Given the description of an element on the screen output the (x, y) to click on. 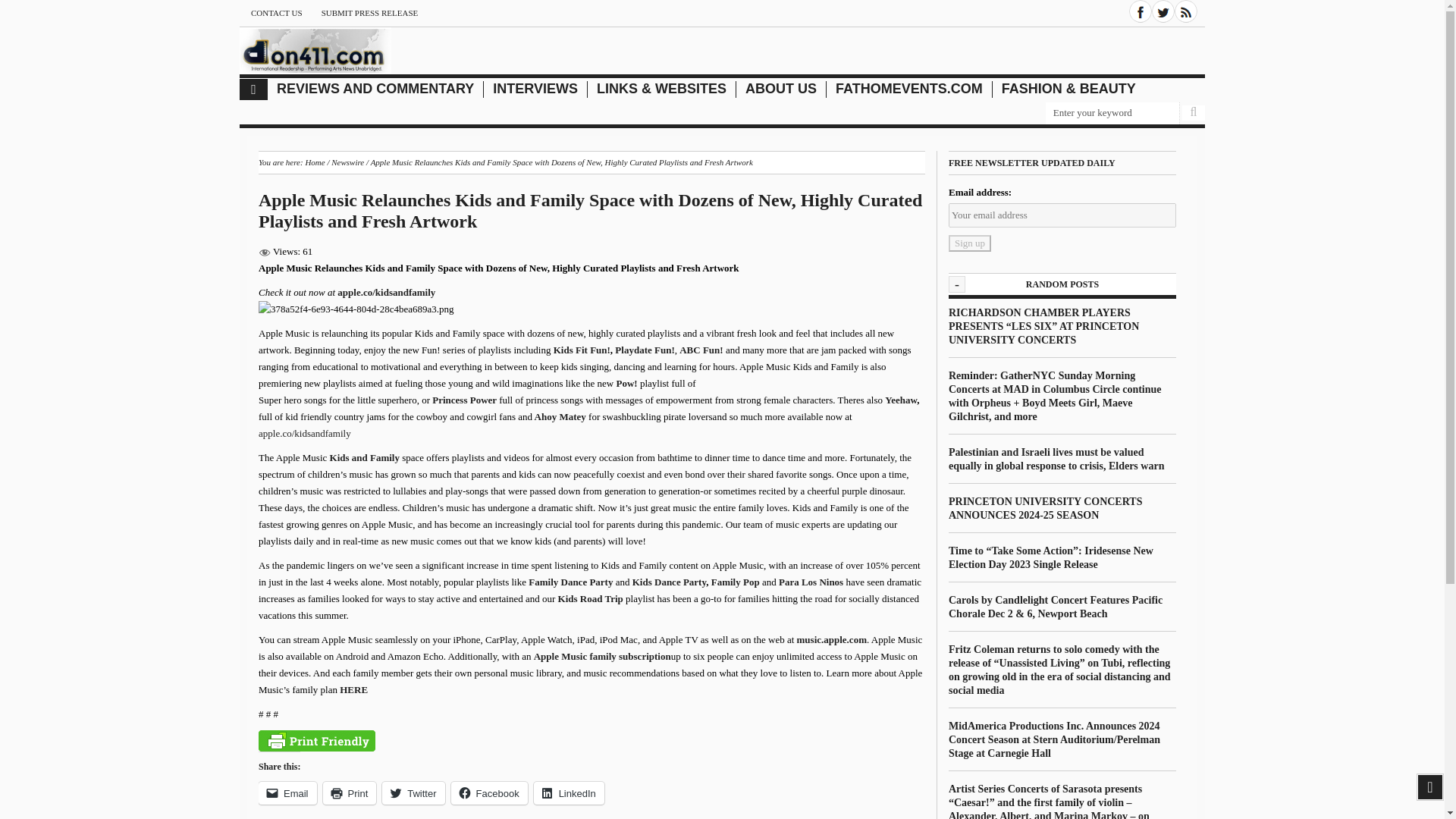
Click to share on Twitter (412, 793)
Sign up (970, 243)
Enter your keyword (1112, 113)
Twitter (1162, 11)
music.apple.com (831, 639)
Kids Fit Fun! (581, 349)
Kids and Family (366, 457)
Kids Dance Party (668, 582)
Click to share on Facebook (489, 793)
Family Dance Party (570, 582)
Pow! (627, 383)
Ahoy Matey (560, 416)
Para Los Ninos (810, 582)
Newswire (347, 162)
Facebook (1140, 11)
